Given the description of an element on the screen output the (x, y) to click on. 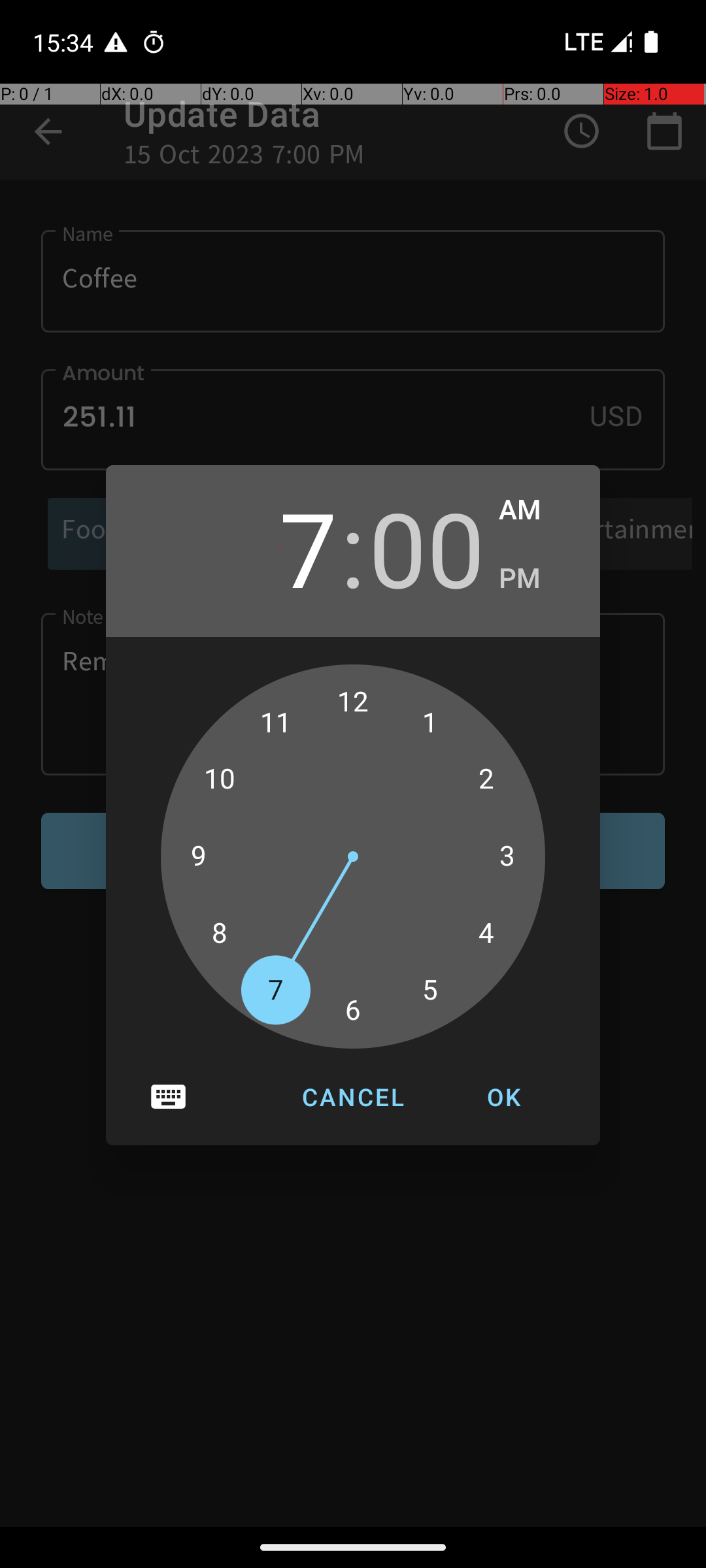
11 Element type: android.widget.RadialTimePickerView$RadialPickerTouchHelper (275, 722)
12 Element type: android.widget.RadialTimePickerView$RadialPickerTouchHelper (352, 701)
CANCEL Element type: android.widget.Button (352, 1096)
AM Element type: android.widget.RadioButton (535, 510)
PM Element type: android.widget.RadioButton (535, 578)
